Given the description of an element on the screen output the (x, y) to click on. 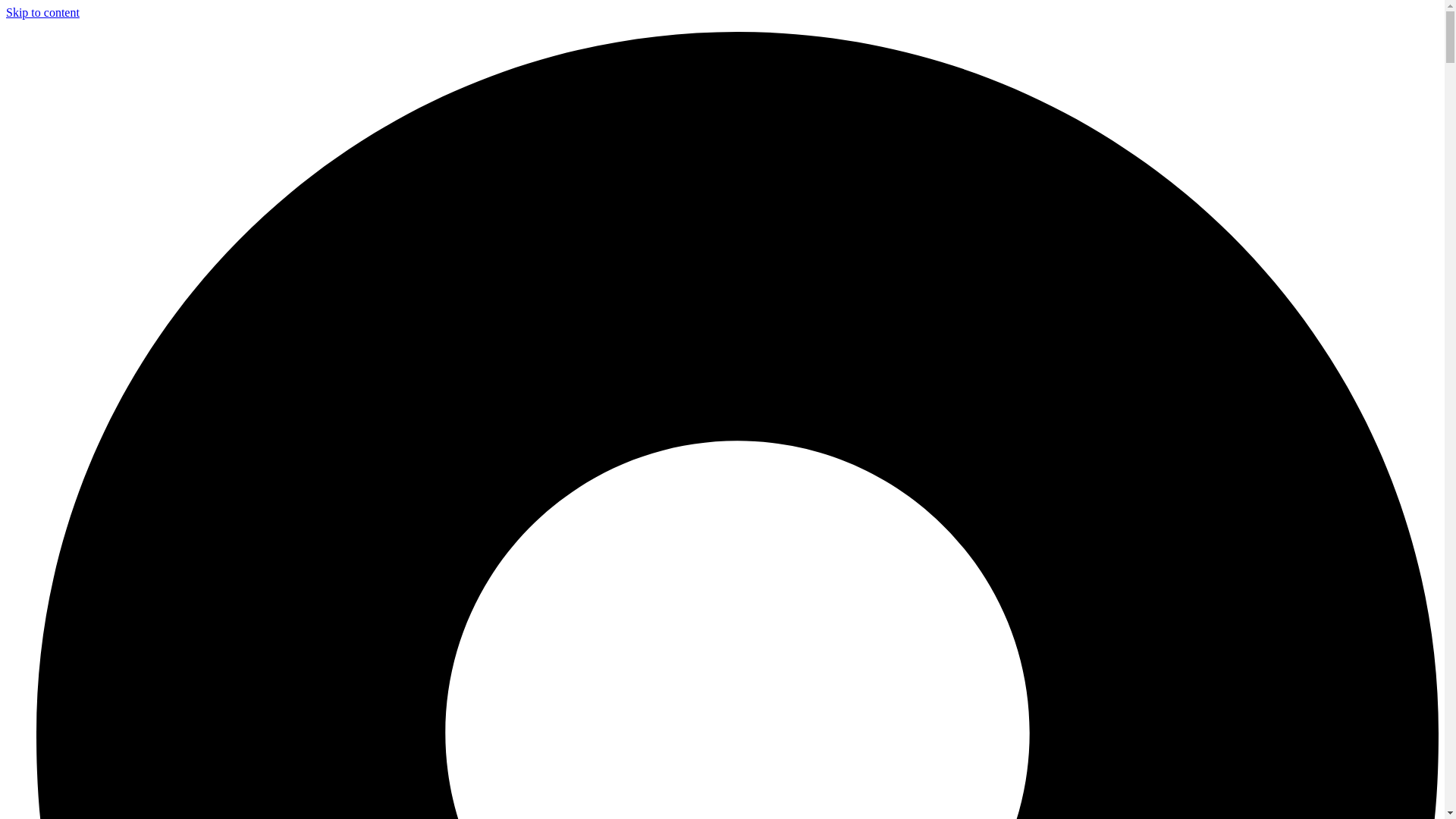
Skip to content Element type: text (42, 12)
